Given the description of an element on the screen output the (x, y) to click on. 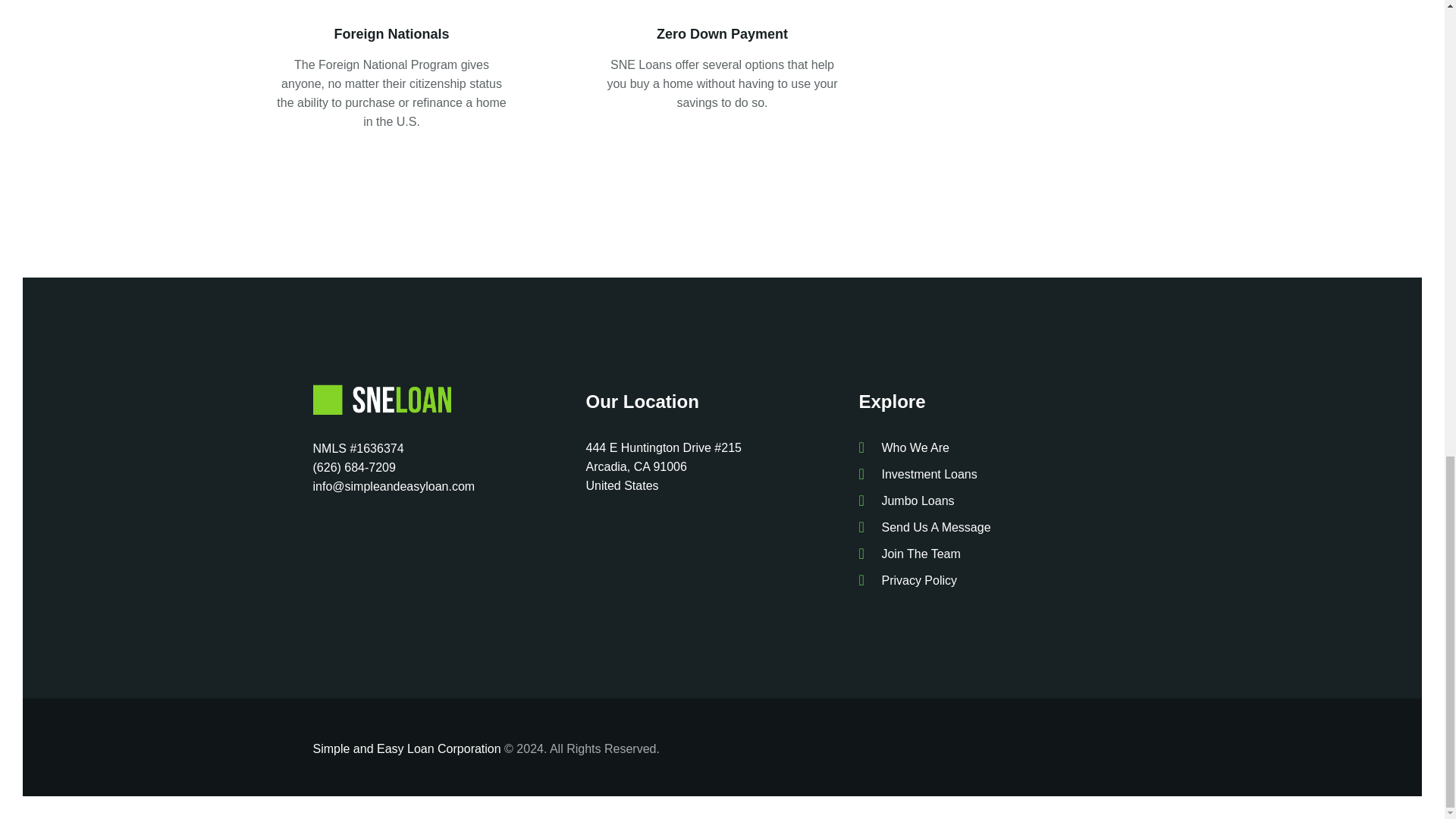
Simple and Easy Loan Corporation (406, 748)
Send Us A Message (995, 527)
Join The Team (995, 553)
Investment Loans (995, 474)
Zero Down Payment (722, 34)
Privacy Policy (995, 579)
Foreign Nationals (392, 34)
Who We Are (995, 447)
Jumbo Loans (995, 500)
